Given the description of an element on the screen output the (x, y) to click on. 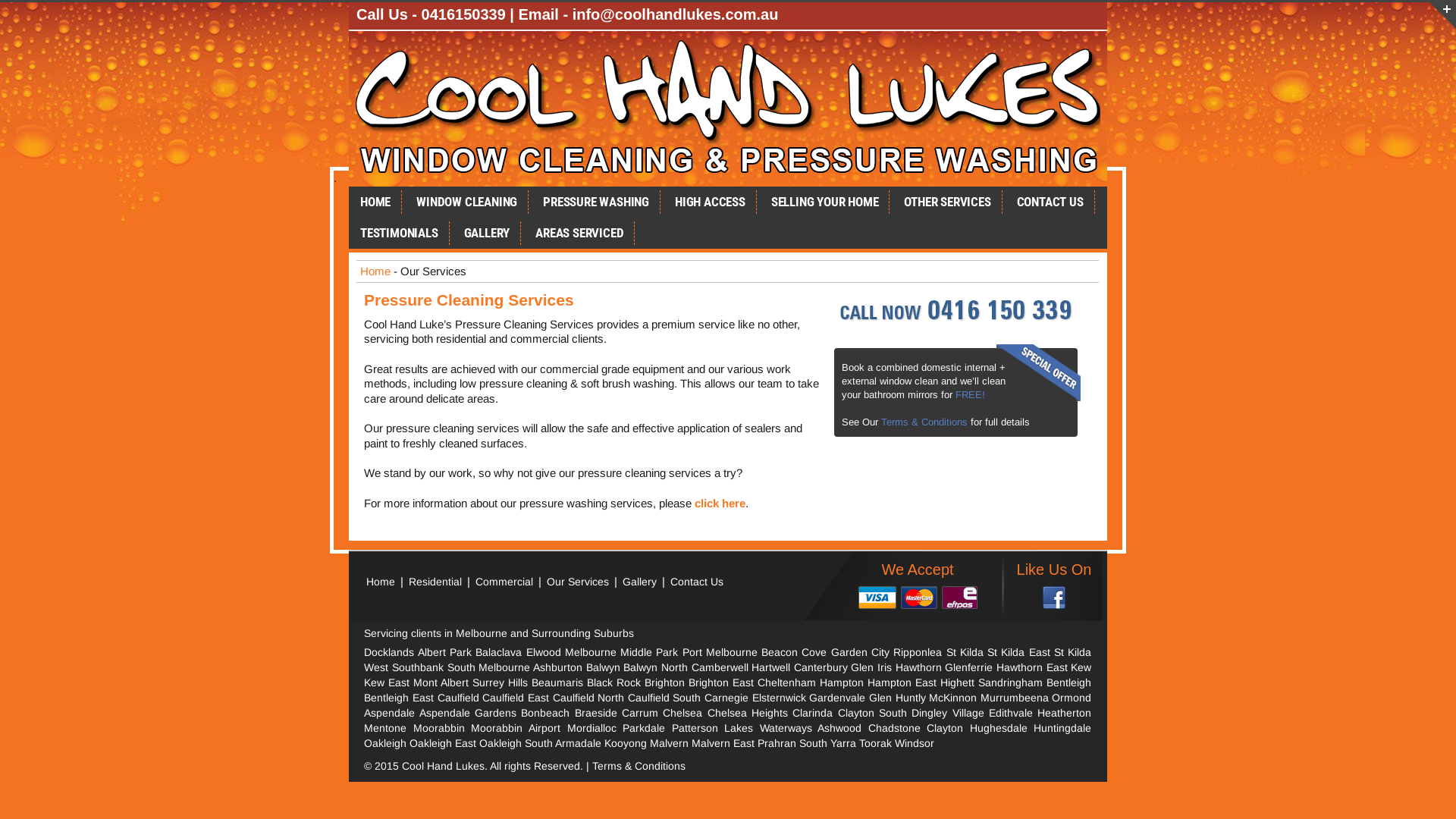
St Kilda East Element type: text (1018, 652)
WINDOW CLEANING Element type: text (466, 201)
Hawthorn Element type: text (918, 667)
Brighton East Element type: text (720, 682)
Murrumbeena Element type: text (1014, 697)
Balwyn North Element type: text (655, 667)
Brighton Element type: text (664, 682)
Chelsea Element type: text (682, 712)
Home Element type: text (375, 270)
PRESSURE WASHING Element type: text (595, 201)
Bonbeach Element type: text (544, 712)
Huntingdale Element type: text (1062, 727)
Kew Element type: text (1080, 667)
HIGH ACCESS Element type: text (709, 201)
Hampton Element type: text (841, 682)
Clarinda Element type: text (812, 712)
Armadale Element type: text (578, 743)
Patterson Lakes Element type: text (712, 727)
Elsternwick Element type: text (779, 697)
Mentone Element type: text (385, 727)
GALLERY Element type: text (487, 232)
Caulfield East Element type: text (515, 697)
Kew East Element type: text (386, 682)
Waterways Element type: text (785, 727)
Beaumaris Element type: text (557, 682)
SELLING YOUR HOME Element type: text (824, 201)
Carrum Element type: text (639, 712)
Terms & Conditions Element type: text (638, 765)
Bentleigh East Element type: text (398, 697)
Residential Element type: text (435, 581)
Call Us - 0416150339 Element type: text (430, 14)
Balwyn Element type: text (603, 667)
Middle Park Element type: text (648, 652)
Glenferrie Element type: text (968, 667)
OTHER SERVICES Element type: text (946, 201)
Gardenvale Element type: text (837, 697)
TESTIMONIALS Element type: text (399, 232)
Malvern Element type: text (668, 743)
Dingley Village Element type: text (947, 712)
St Kilda West Element type: text (727, 659)
Heatherton Element type: text (1064, 712)
Glen Iris Element type: text (870, 667)
Braeside Element type: text (595, 712)
Malvern East Element type: text (722, 743)
Chadstone Element type: text (894, 727)
Carnegie Element type: text (726, 697)
Ormond Element type: text (1071, 697)
Southbank South Element type: text (433, 667)
Oakleigh East Element type: text (442, 743)
AREAS SERVICED Element type: text (579, 232)
Moorabbin Element type: text (438, 727)
Hawthorn East Element type: text (1031, 667)
Garden City Element type: text (860, 652)
Commercial Element type: text (504, 581)
Ashwood Element type: text (839, 727)
Caulfield North Element type: text (588, 697)
Docklands Element type: text (389, 652)
Elwood Element type: text (543, 652)
CONTACT US Element type: text (1049, 201)
Camberwell Element type: text (719, 667)
Gallery Element type: text (641, 581)
Edithvale Element type: text (1010, 712)
Highett Element type: text (957, 682)
Aspendale Element type: text (389, 712)
Toorak Element type: text (875, 743)
Aspendale Gardens Element type: text (467, 712)
Our Services Element type: text (577, 581)
Email - info@coolhandlukes.com.au Element type: text (648, 14)
Albert Park Element type: text (444, 652)
Chelsea Heights Element type: text (747, 712)
click here Element type: text (719, 502)
Oakleigh South Element type: text (515, 743)
McKinnon Element type: text (952, 697)
Home Element type: text (380, 581)
Clayton South Element type: text (871, 712)
FREE! Element type: text (970, 393)
Oakleigh Element type: text (385, 743)
Parkdale Element type: text (643, 727)
Ripponlea St Kilda Element type: text (938, 652)
Mordialloc Element type: text (591, 727)
Prahran Element type: text (776, 743)
Balaclava Element type: text (498, 652)
Clayton Element type: text (944, 727)
Bentleigh Element type: text (1068, 682)
Hughesdale Element type: text (998, 727)
Moorabbin Airport Element type: text (515, 727)
Hampton East Element type: text (901, 682)
HOME Element type: text (375, 201)
Sandringham Element type: text (1010, 682)
Melbourne Element type: text (590, 652)
Contact Us Element type: text (696, 581)
Mont Albert Element type: text (440, 682)
Port Melbourne Element type: text (719, 652)
Cheltenham Element type: text (786, 682)
Melbourne Element type: text (504, 667)
Terms & Conditions Element type: text (924, 420)
Ashburton Element type: text (557, 667)
Caulfield Element type: text (458, 697)
Black Rock Element type: text (613, 682)
Caulfield South Element type: text (664, 697)
Kooyong Element type: text (625, 743)
Windsor Element type: text (914, 743)
South Yarra Element type: text (827, 743)
Glen Huntly Element type: text (897, 697)
Beacon Cove Element type: text (793, 652)
Canterbury Element type: text (820, 667)
Surrey Hills Element type: text (499, 682)
Hartwell Element type: text (770, 667)
